Given the description of an element on the screen output the (x, y) to click on. 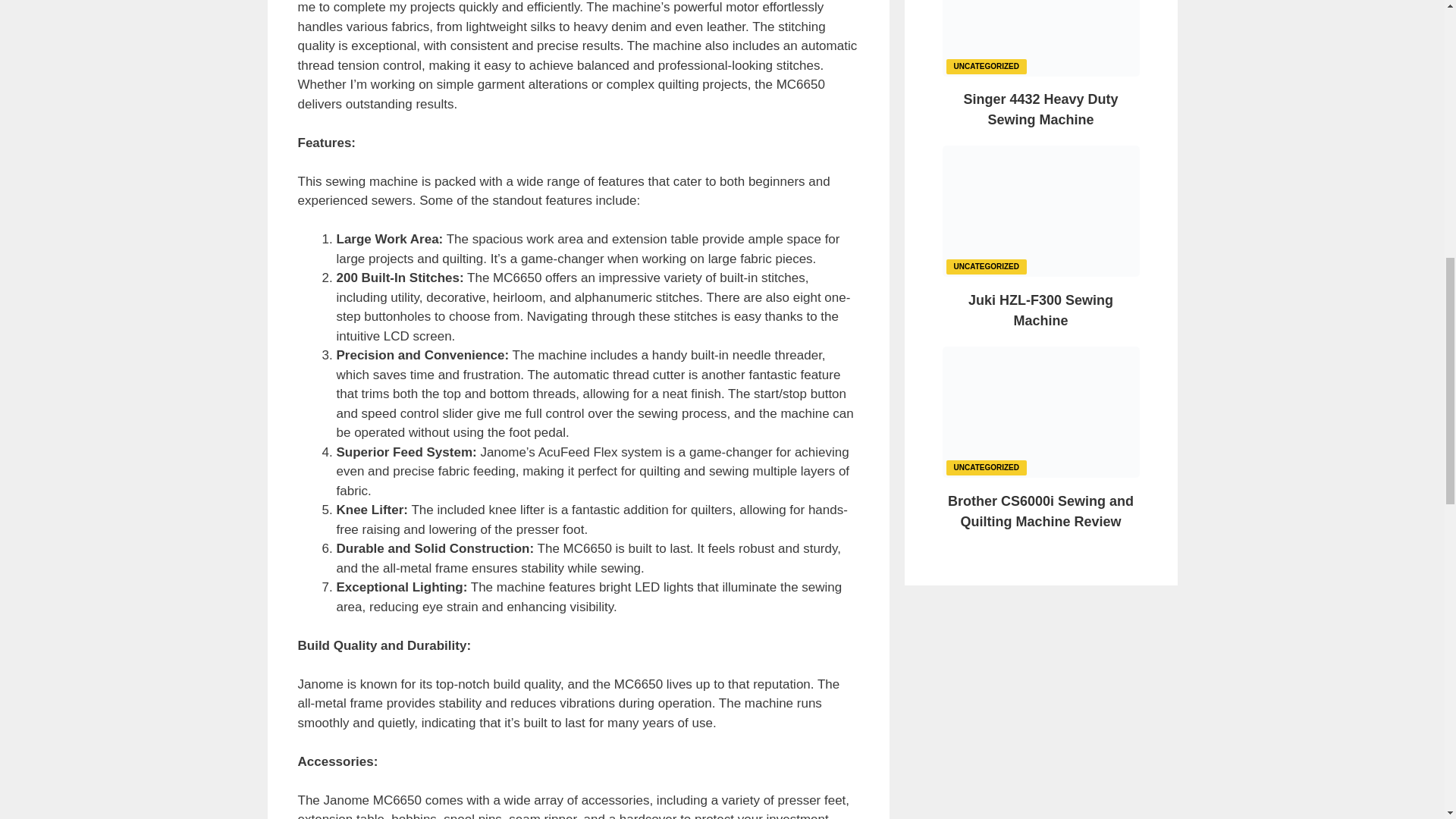
Singer 4432 Heavy Duty Sewing Machine (1040, 109)
UNCATEGORIZED (986, 465)
Brother CS6000i Sewing and Quilting Machine Review (1040, 511)
Juki HZL-F300 Sewing Machine (1040, 310)
UNCATEGORIZED (986, 265)
Scroll back to top (1406, 720)
UNCATEGORIZED (986, 65)
